Given the description of an element on the screen output the (x, y) to click on. 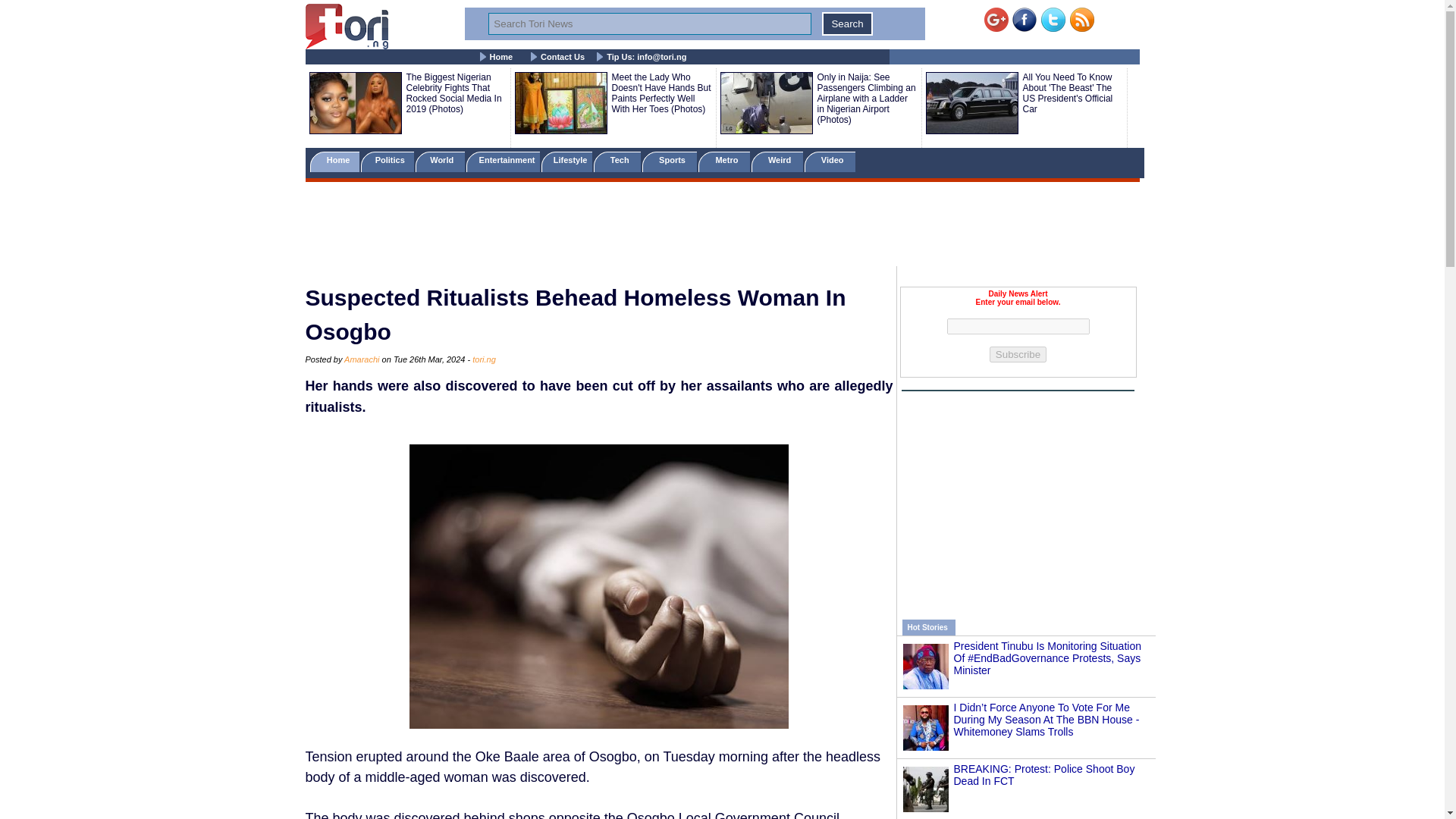
  Lifestyle   (566, 161)
Subscribe (1018, 354)
Click To Search (847, 24)
    Weird      (777, 161)
Home (501, 56)
   Politics     (387, 161)
BREAKING: Protest: Police Shoot Boy Dead In FCT (1044, 774)
  Entertainment   (501, 161)
    Video      (830, 161)
    Tech      (617, 161)
Search (847, 24)
   World      (439, 161)
    Sports      (669, 161)
    Metro      (723, 161)
